Given the description of an element on the screen output the (x, y) to click on. 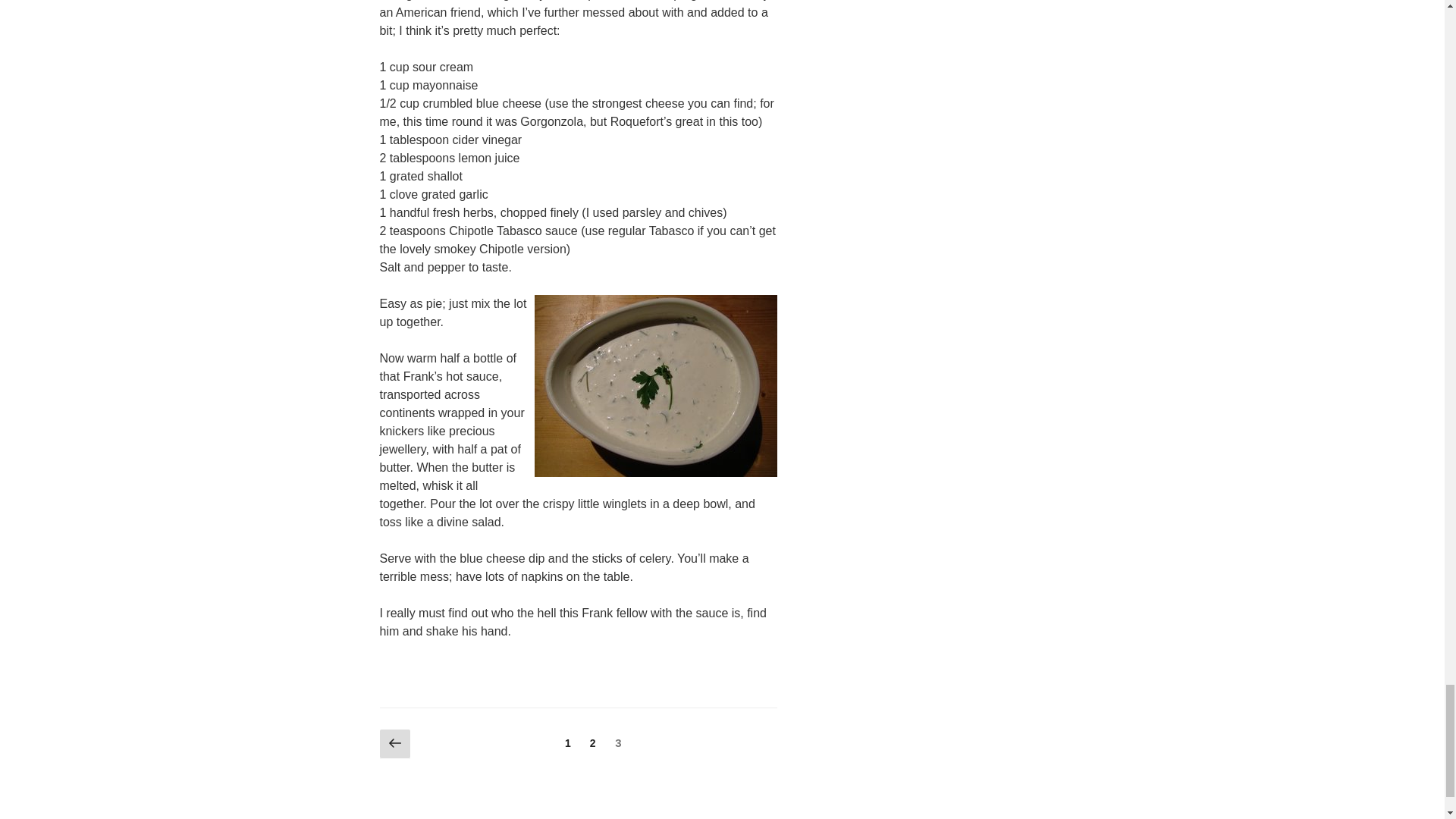
Previous page (393, 744)
